Given the description of an element on the screen output the (x, y) to click on. 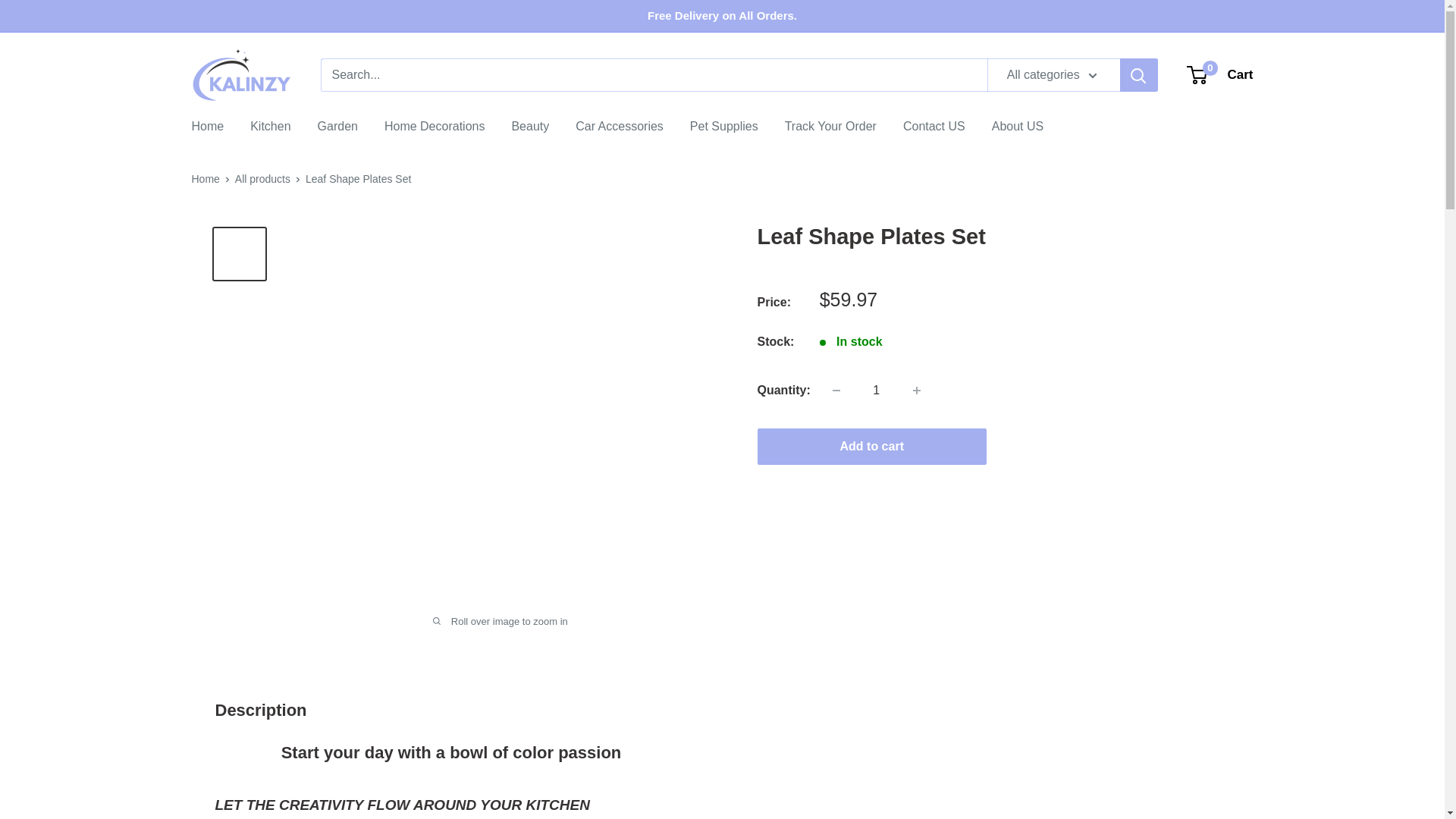
Pet Supplies (1220, 74)
Home (724, 126)
Garden (204, 178)
About US (337, 126)
All products (1017, 126)
Beauty (261, 178)
Kitchen (529, 126)
1 (269, 126)
Contact US (876, 390)
Home Decorations (933, 126)
Track Your Order (434, 126)
Decrease quantity by 1 (830, 126)
Car Accessories (836, 390)
Increase quantity by 1 (619, 126)
